Given the description of an element on the screen output the (x, y) to click on. 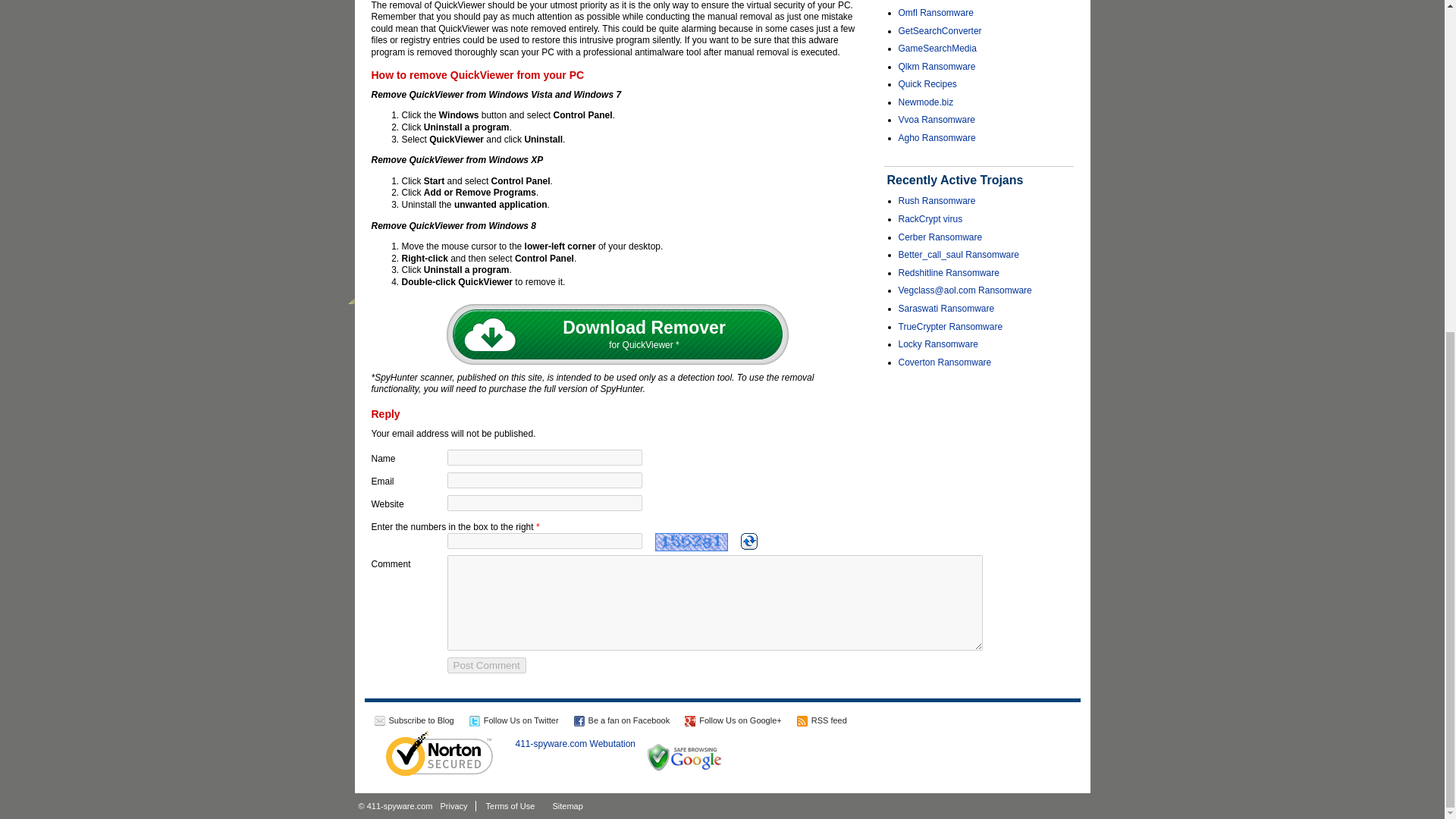
Qlkm Ransomware (936, 66)
Post Comment (485, 665)
Omfl Ransomware (935, 12)
GetSearchConverter (939, 30)
GameSearchMedia (936, 48)
